Given the description of an element on the screen output the (x, y) to click on. 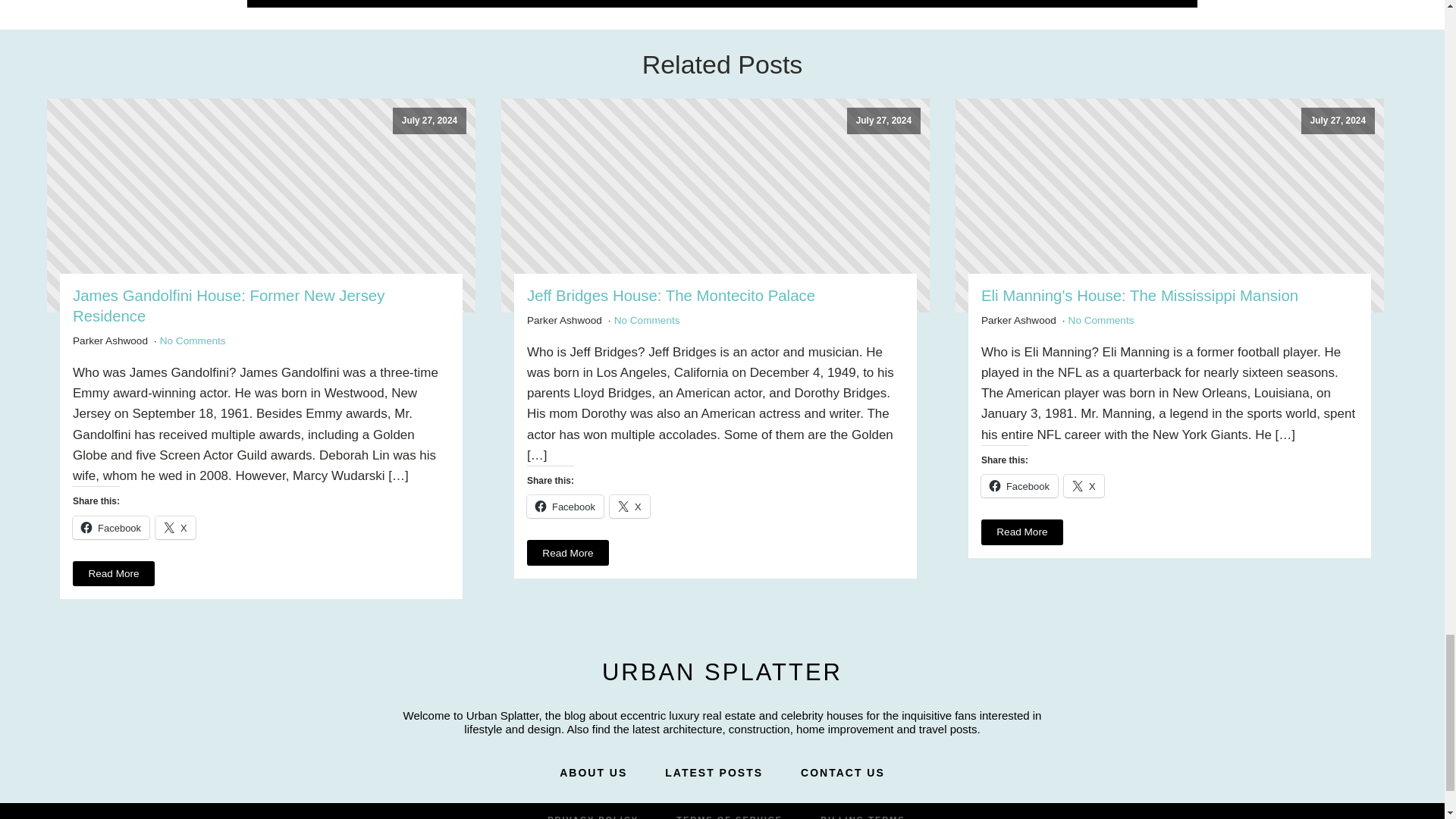
Click to share on X (175, 527)
Click to share on Facebook (110, 527)
Click to share on X (629, 506)
Click to share on Facebook (565, 506)
Click to share on X (1083, 486)
Click to share on Facebook (1019, 486)
